Given the description of an element on the screen output the (x, y) to click on. 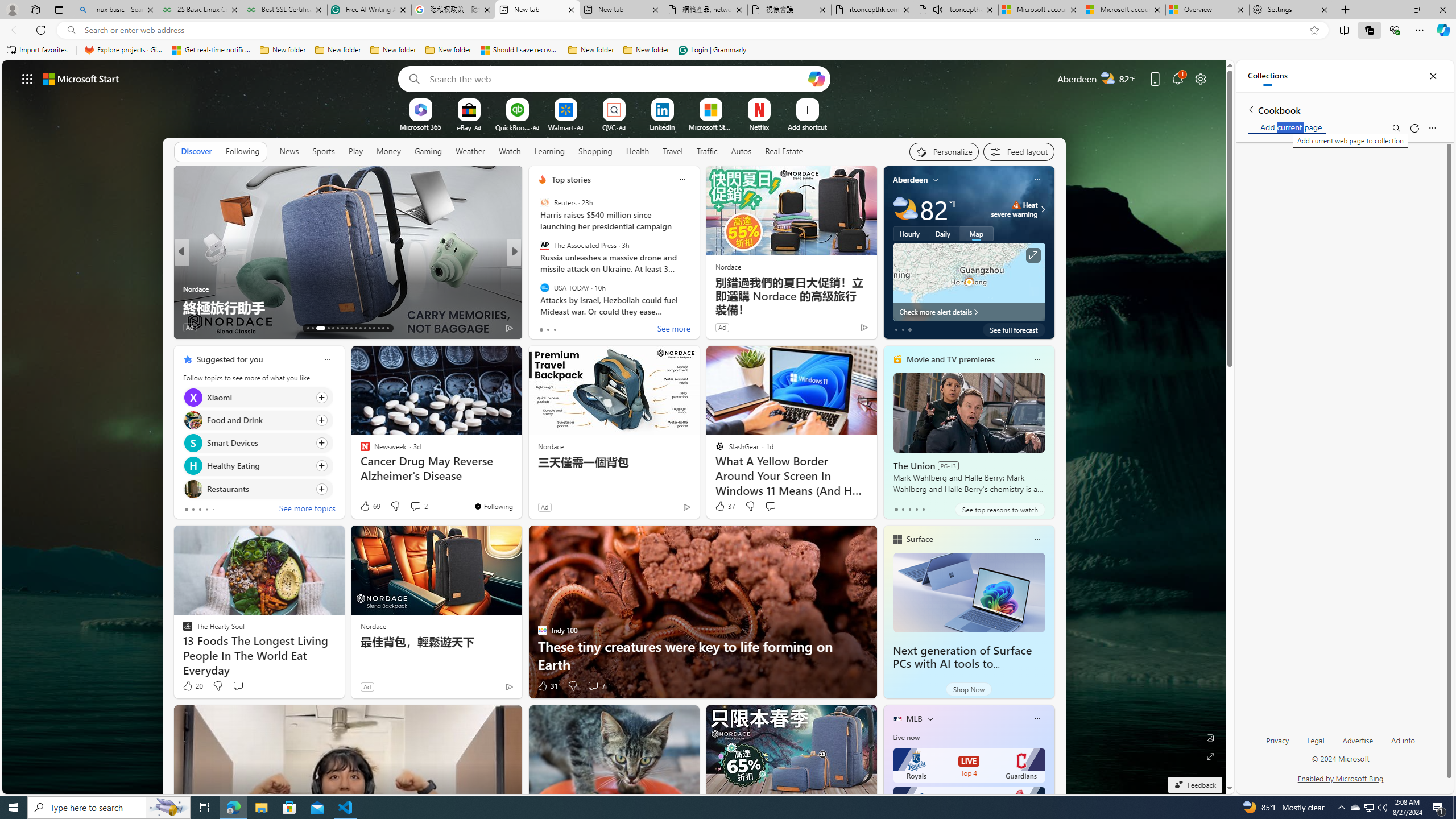
ScienceAlert (537, 270)
Microsoft start (81, 78)
Click to follow topic Healthy Eating (257, 465)
I Tried 9 Kombucha Brands and One Hit All the Right Notes (697, 298)
AutomationID: tab-24 (364, 328)
